Given the description of an element on the screen output the (x, y) to click on. 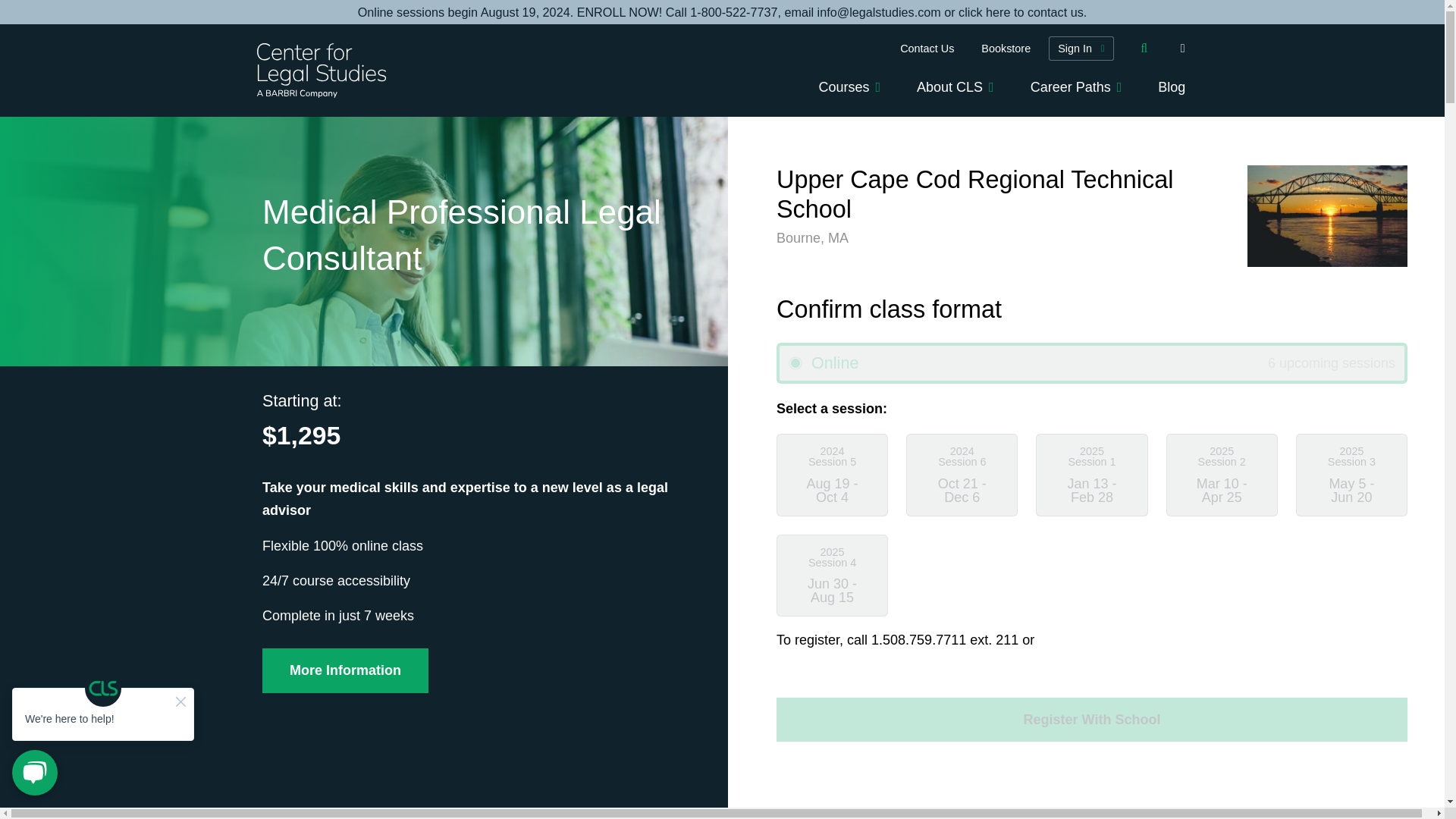
Bookstore (1005, 47)
Career Paths (1075, 88)
Courses (849, 88)
Center for Legal Studies (326, 70)
About CLS (955, 88)
Sign In (1080, 48)
Chat Widget (103, 732)
Contact Us (926, 47)
Contact Us (722, 12)
